Given the description of an element on the screen output the (x, y) to click on. 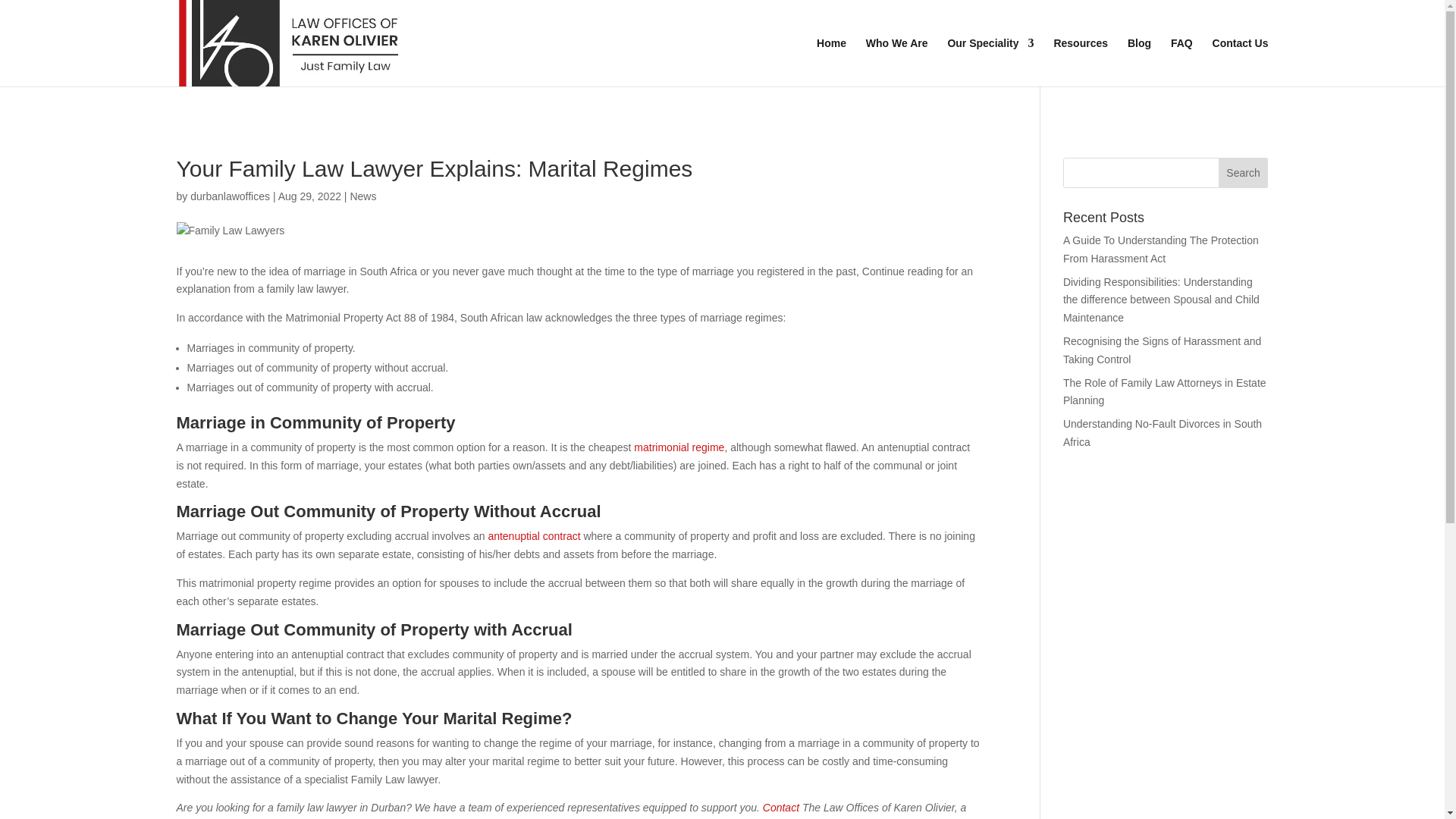
matrimonial regime (678, 447)
Our Speciality (990, 61)
News (362, 196)
antenuptial contract (533, 535)
The Role of Family Law Attorneys in Estate Planning (1164, 391)
Search (1243, 173)
A Guide To Understanding The Protection From Harassment Act (1160, 249)
Search (1243, 173)
Who We Are (897, 61)
Recognising the Signs of Harassment and Taking Control (1161, 349)
Posts by durbanlawoffices (229, 196)
Contact (780, 807)
Contact Us (1240, 61)
Resources (1080, 61)
